Given the description of an element on the screen output the (x, y) to click on. 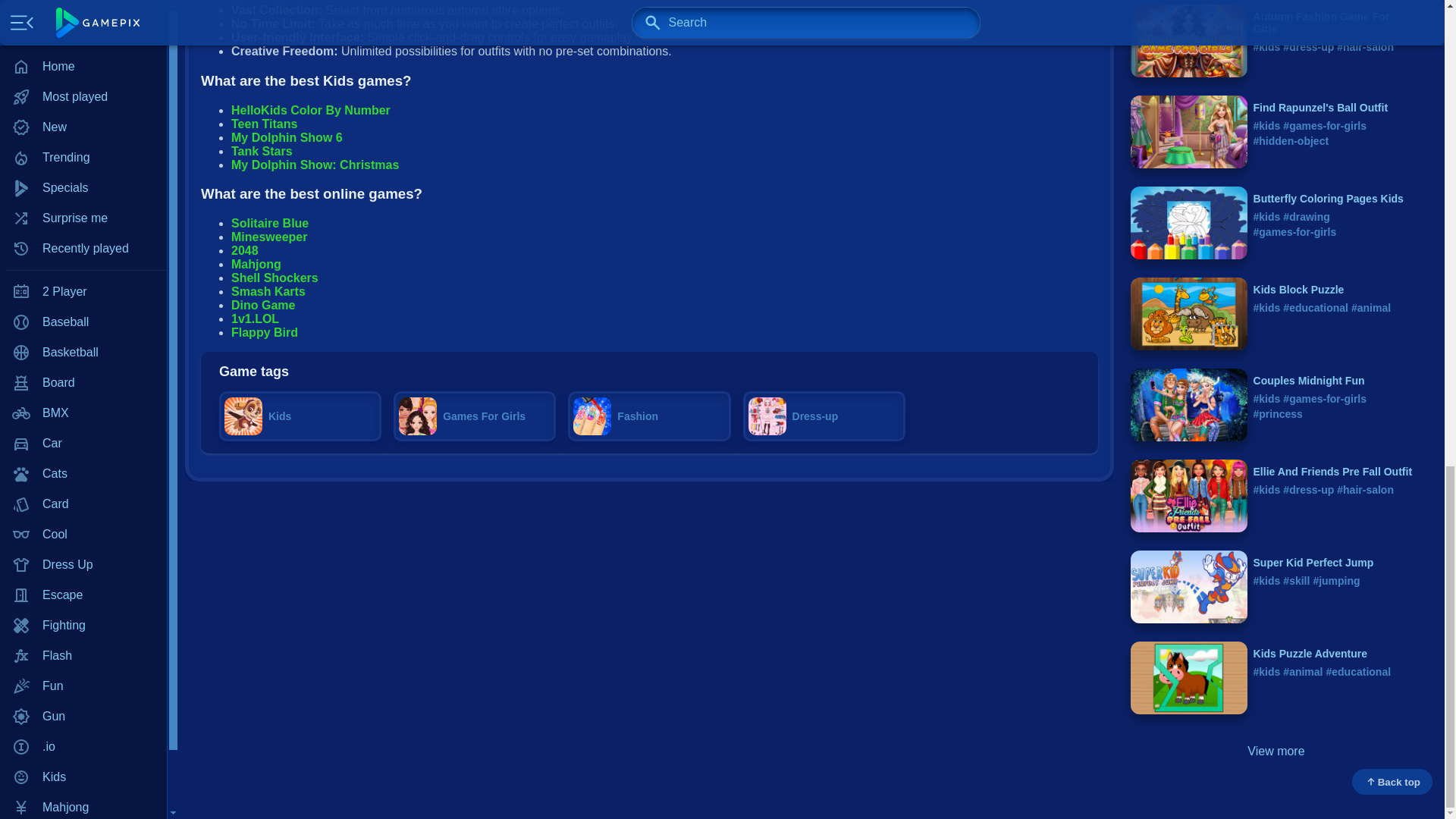
Zombie (83, 110)
War (83, 49)
Word (83, 79)
Snake (83, 2)
Soccer (83, 19)
